Given the description of an element on the screen output the (x, y) to click on. 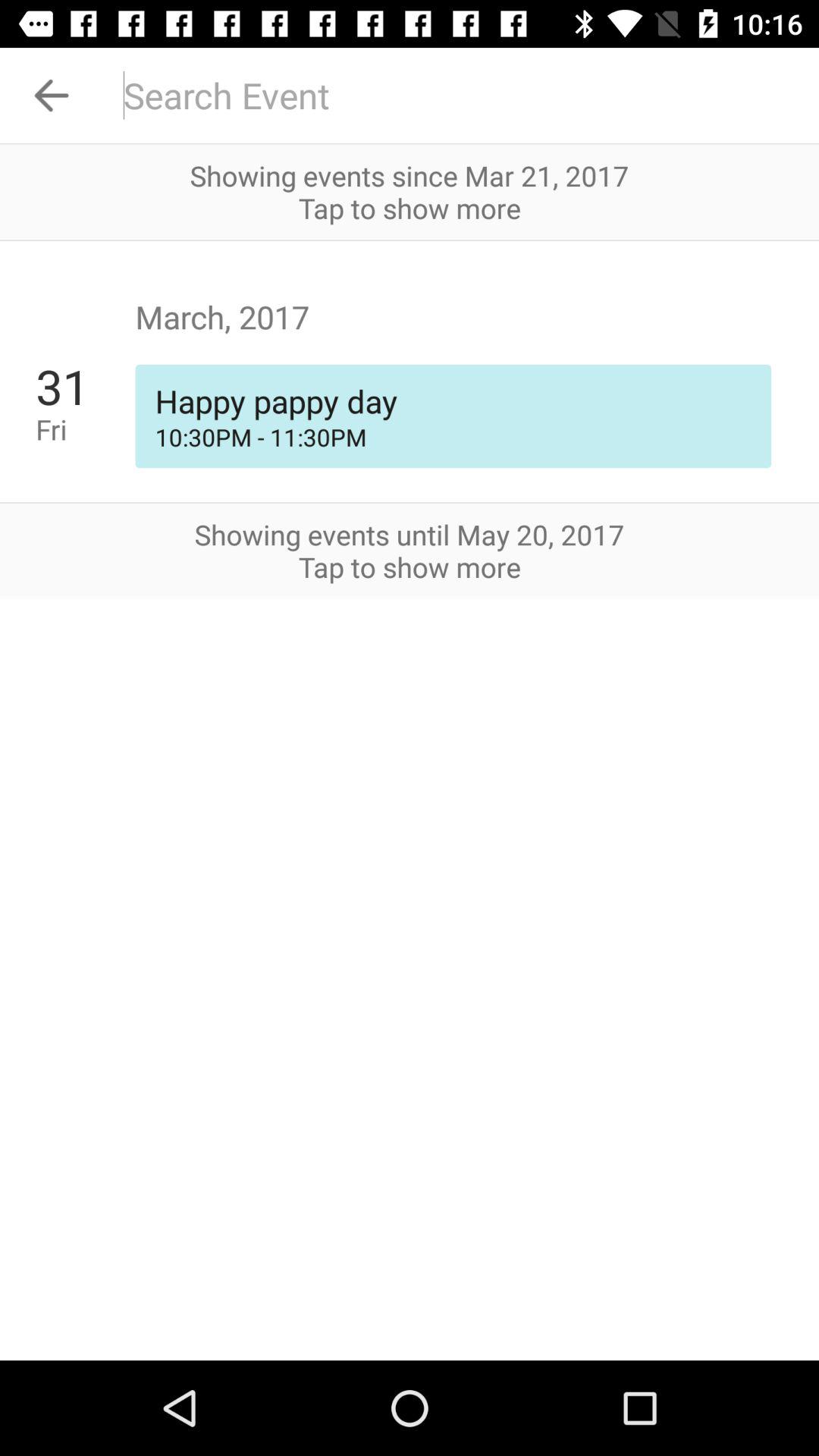
place cursor (461, 95)
